Given the description of an element on the screen output the (x, y) to click on. 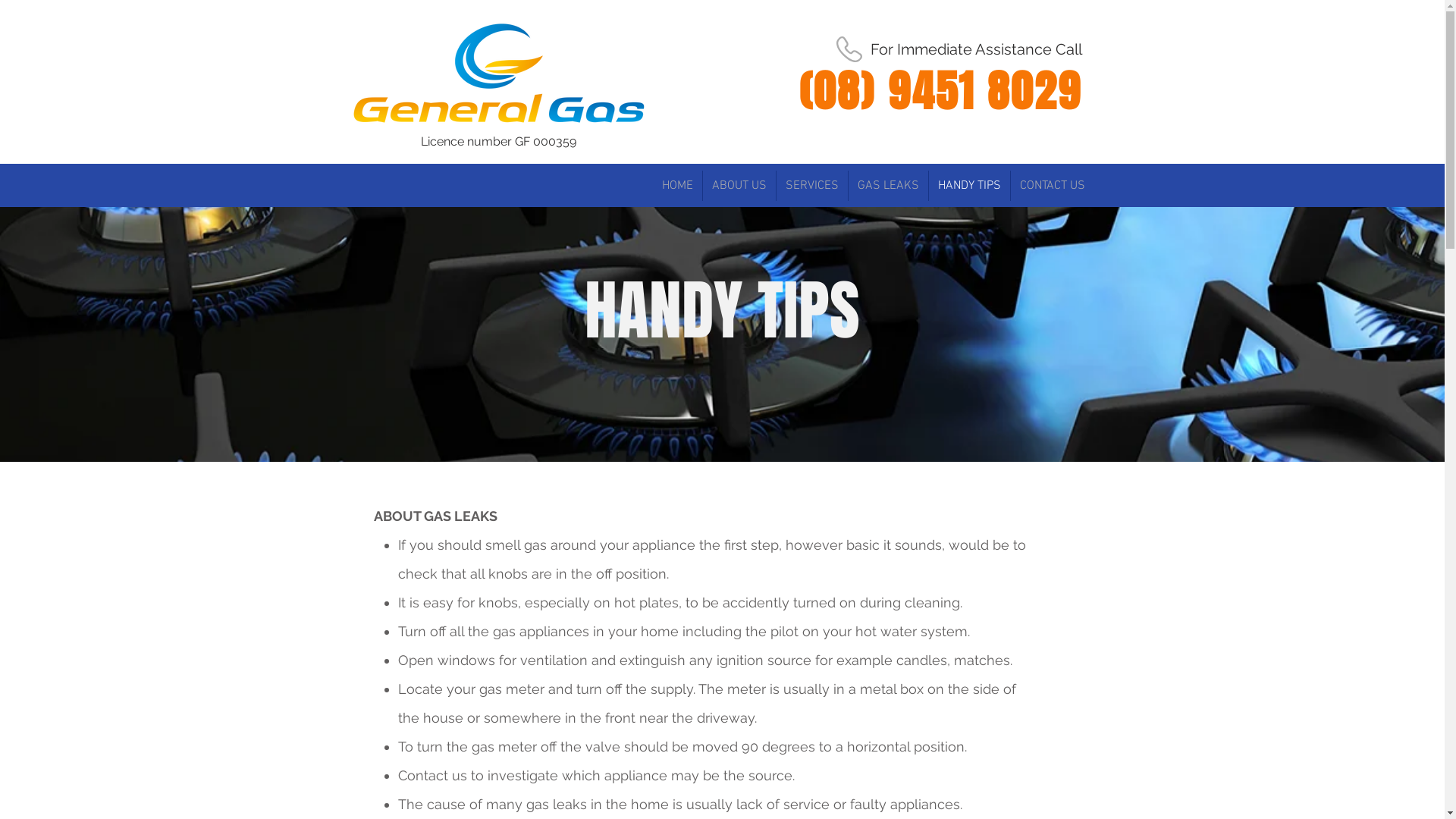
GAS LEAKS Element type: text (887, 185)
ABOUT US Element type: text (738, 185)
SERVICES Element type: text (811, 185)
HOME Element type: text (676, 185)
CONTACT US Element type: text (1051, 185)
HANDY TIPS Element type: text (968, 185)
